Given the description of an element on the screen output the (x, y) to click on. 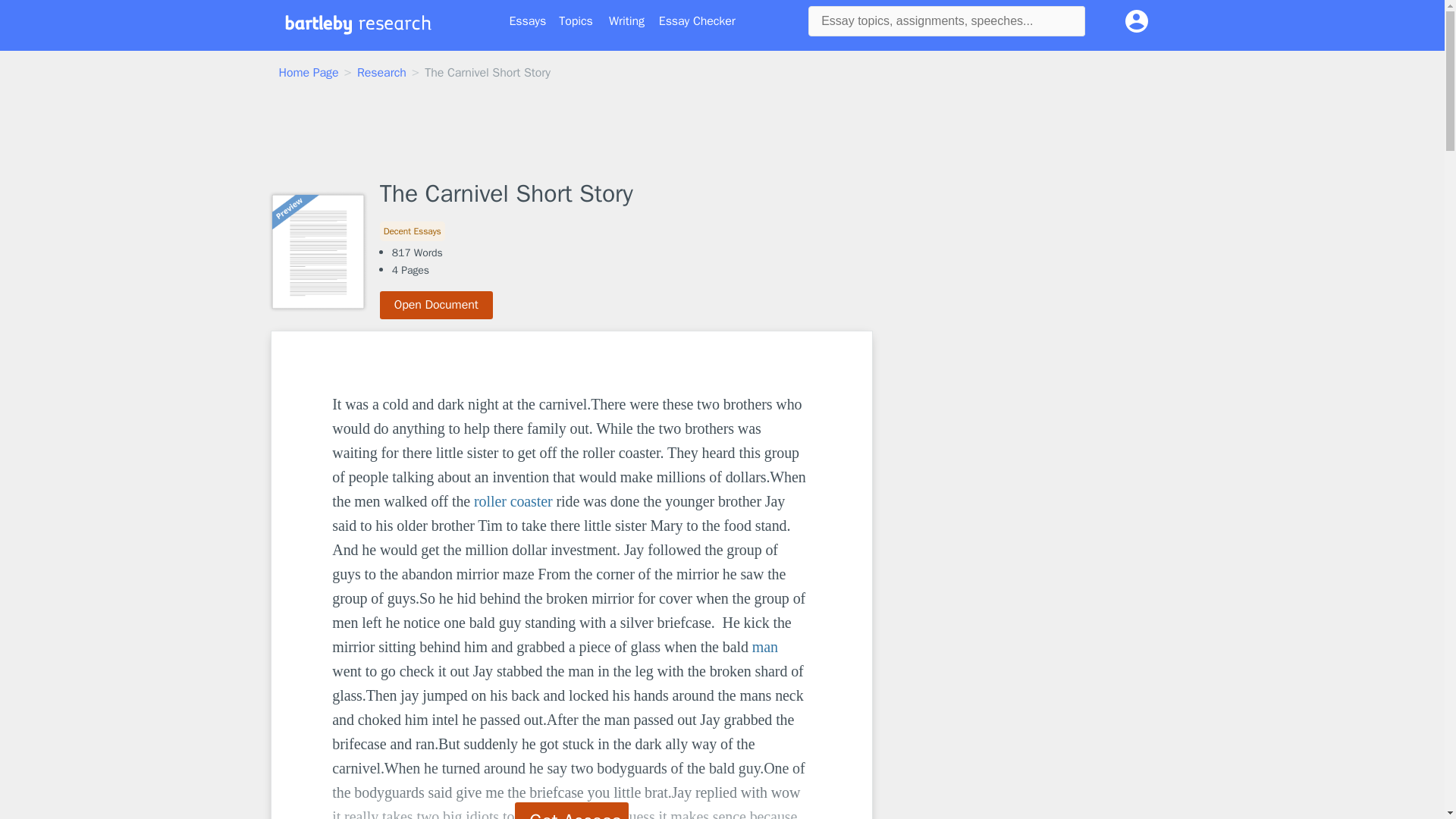
Writing (626, 20)
roller coaster (513, 501)
Essays (528, 20)
Get Access (571, 810)
Topics (575, 20)
man (764, 646)
Essay Checker (697, 20)
Open Document (436, 305)
Research (381, 72)
Home Page (309, 72)
